Given the description of an element on the screen output the (x, y) to click on. 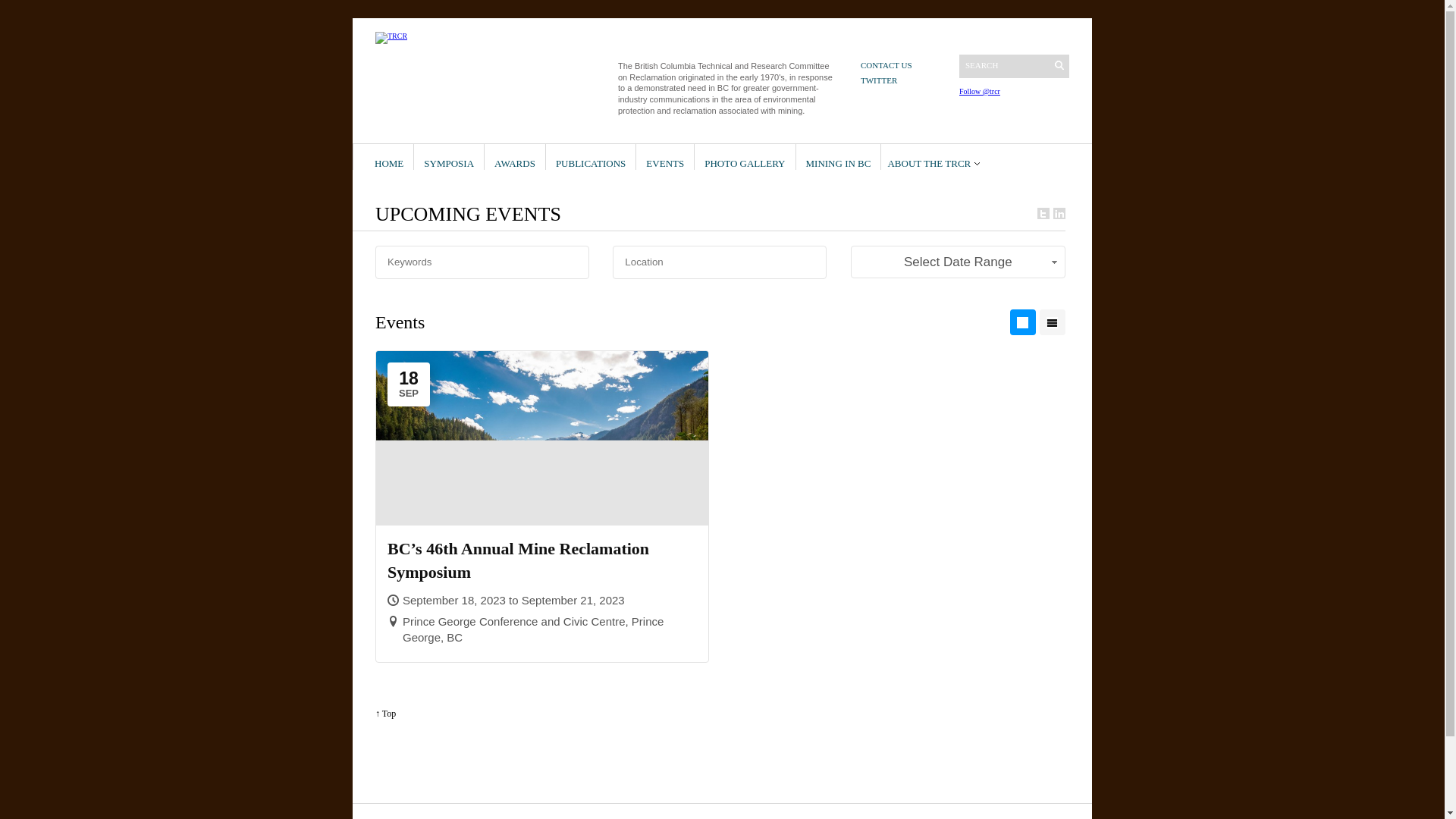
PUBLICATIONS Element type: text (590, 156)
Events List View Element type: hover (1052, 322)
ABOUT THE TRCR Element type: text (933, 156)
Events Box View Element type: hover (1022, 322)
TRCR - Home Element type: hover (391, 37)
Follow @trcr Element type: text (979, 91)
CONTACT US Element type: text (886, 64)
PHOTO GALLERY Element type: text (744, 156)
TWITTER Element type: text (878, 79)
Share on LinkedIn Element type: hover (1059, 213)
Spread the word on Twitter Element type: hover (1043, 213)
SYMPOSIA Element type: text (448, 156)
EVENTS Element type: text (665, 156)
HOME Element type: text (388, 156)
AWARDS Element type: text (514, 156)
Select Date Range Element type: text (957, 261)
MINING IN BC Element type: text (837, 156)
